Given the description of an element on the screen output the (x, y) to click on. 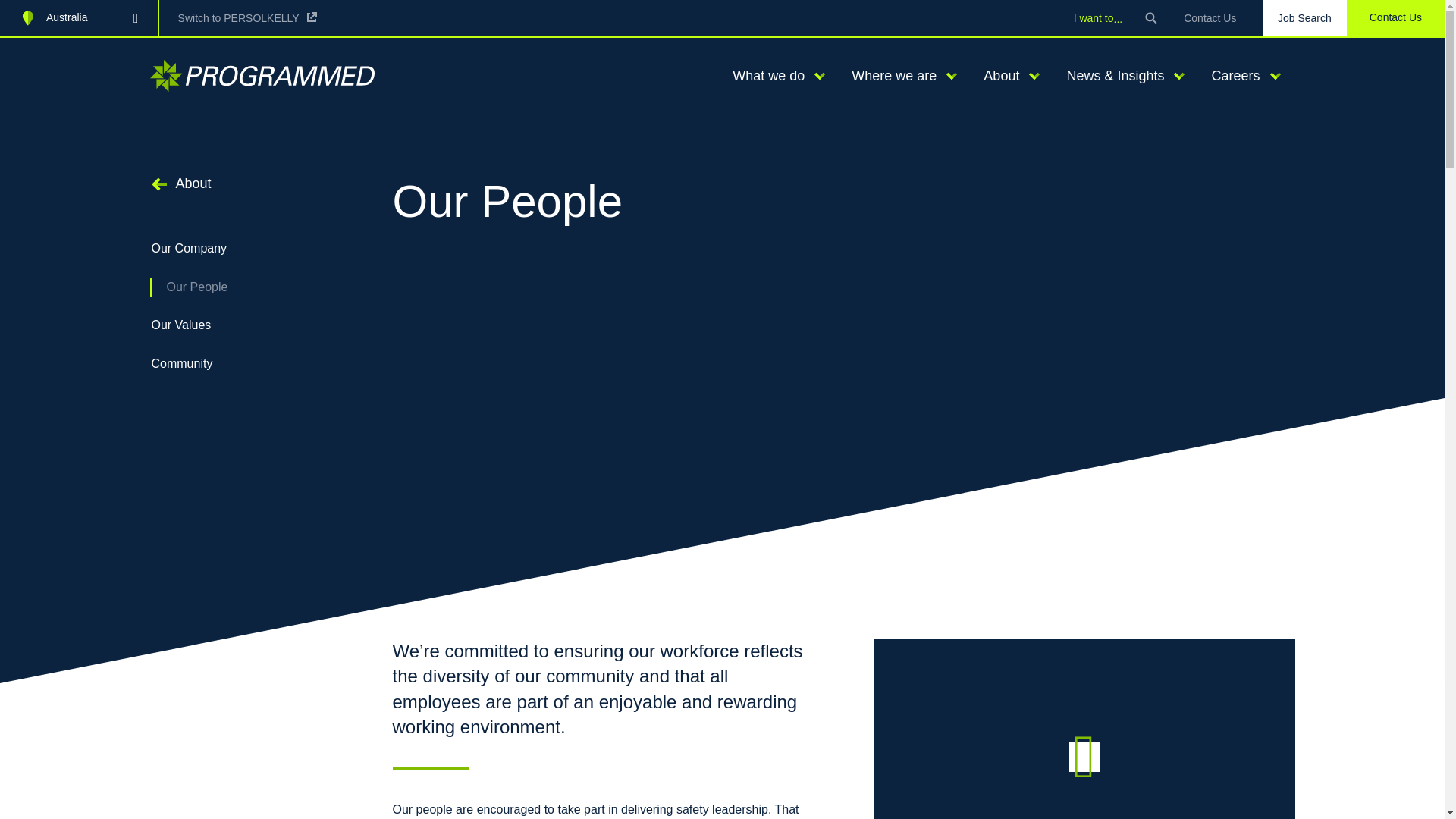
Switch to PERSOLKELLY (247, 17)
What we do (762, 75)
I want to (1098, 17)
Contact Us (1209, 18)
Australia (78, 18)
Job Search (1304, 18)
